Given the description of an element on the screen output the (x, y) to click on. 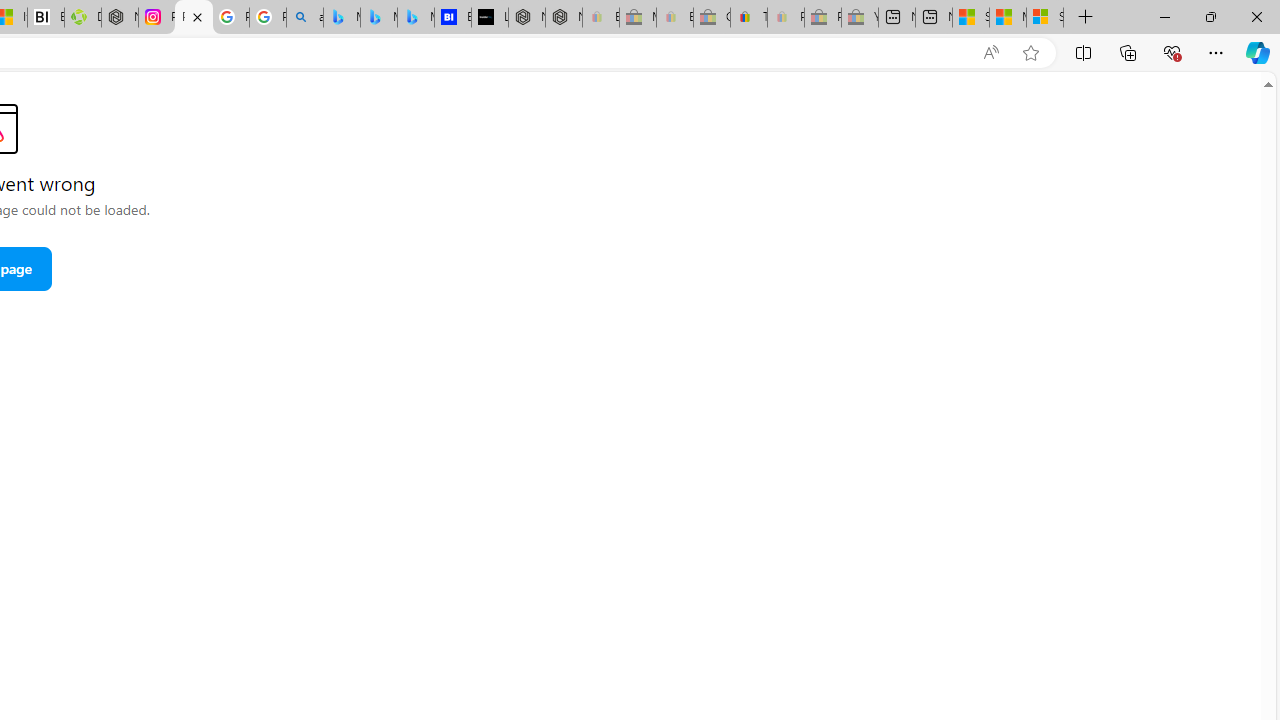
Microsoft Bing Travel - Shangri-La Hotel Bangkok (415, 17)
Press Room - eBay Inc. - Sleeping (822, 17)
